Given the description of an element on the screen output the (x, y) to click on. 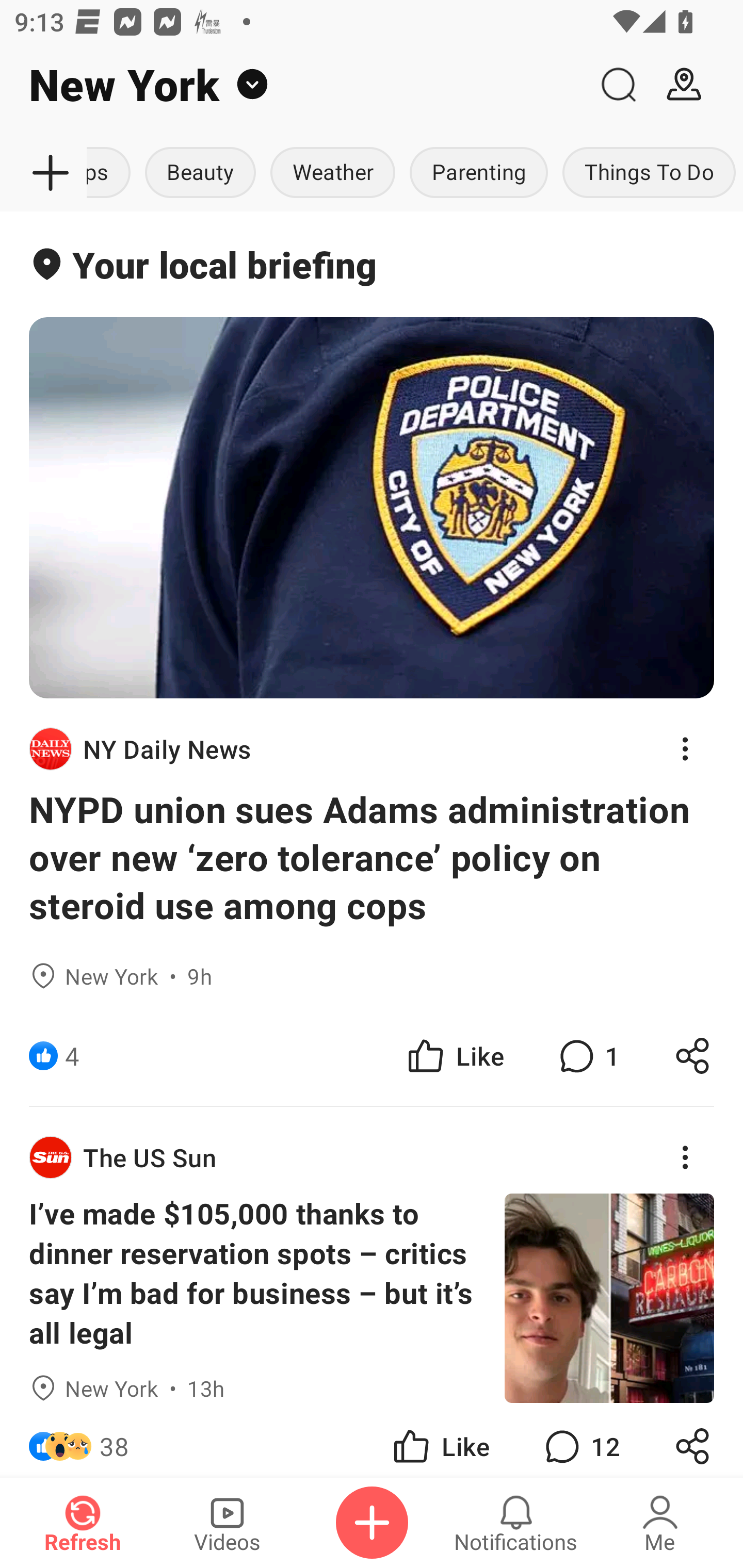
New York (292, 84)
Relationships (111, 172)
Beauty (200, 172)
Weather (332, 172)
Parenting (478, 172)
Things To Do (649, 172)
4 (72, 1055)
Like (454, 1055)
1 (587, 1055)
38 (114, 1440)
Like (439, 1440)
12 (579, 1440)
Videos (227, 1522)
Notifications (516, 1522)
Me (659, 1522)
